Given the description of an element on the screen output the (x, y) to click on. 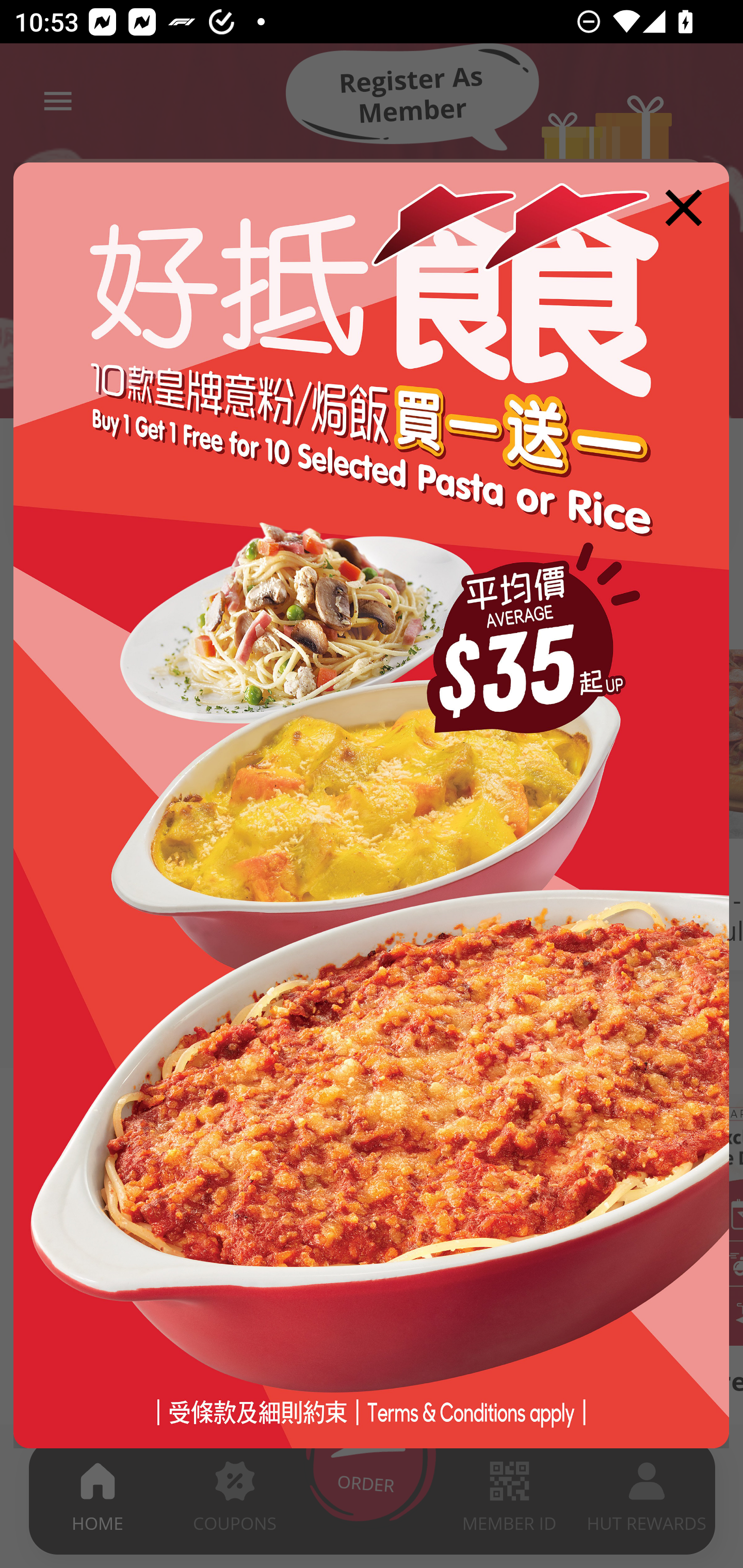
Close (683, 207)
